Given the description of an element on the screen output the (x, y) to click on. 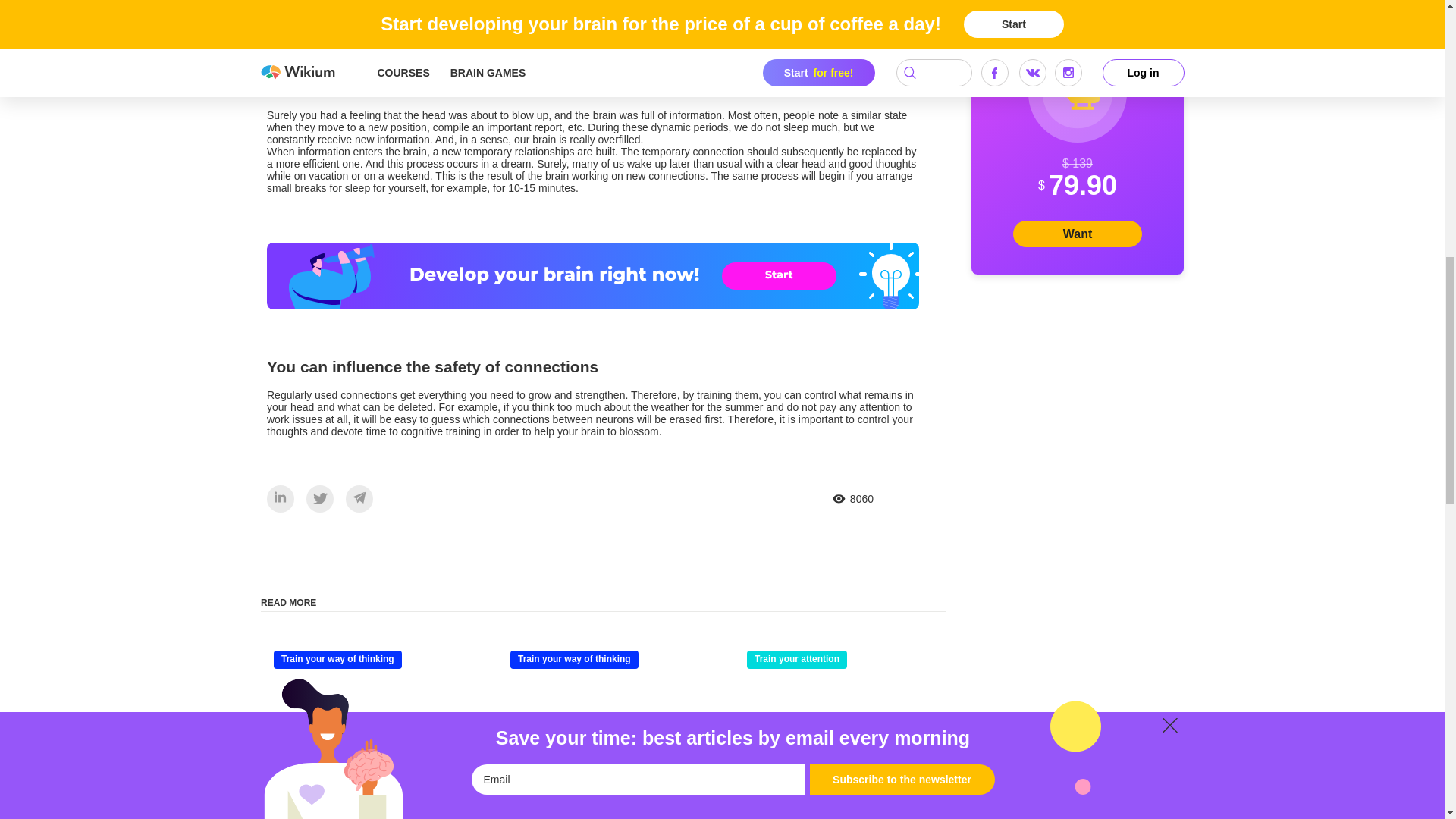
Telegram (359, 497)
Want (1077, 233)
Twitter (319, 498)
LinkedIn (280, 496)
